Given the description of an element on the screen output the (x, y) to click on. 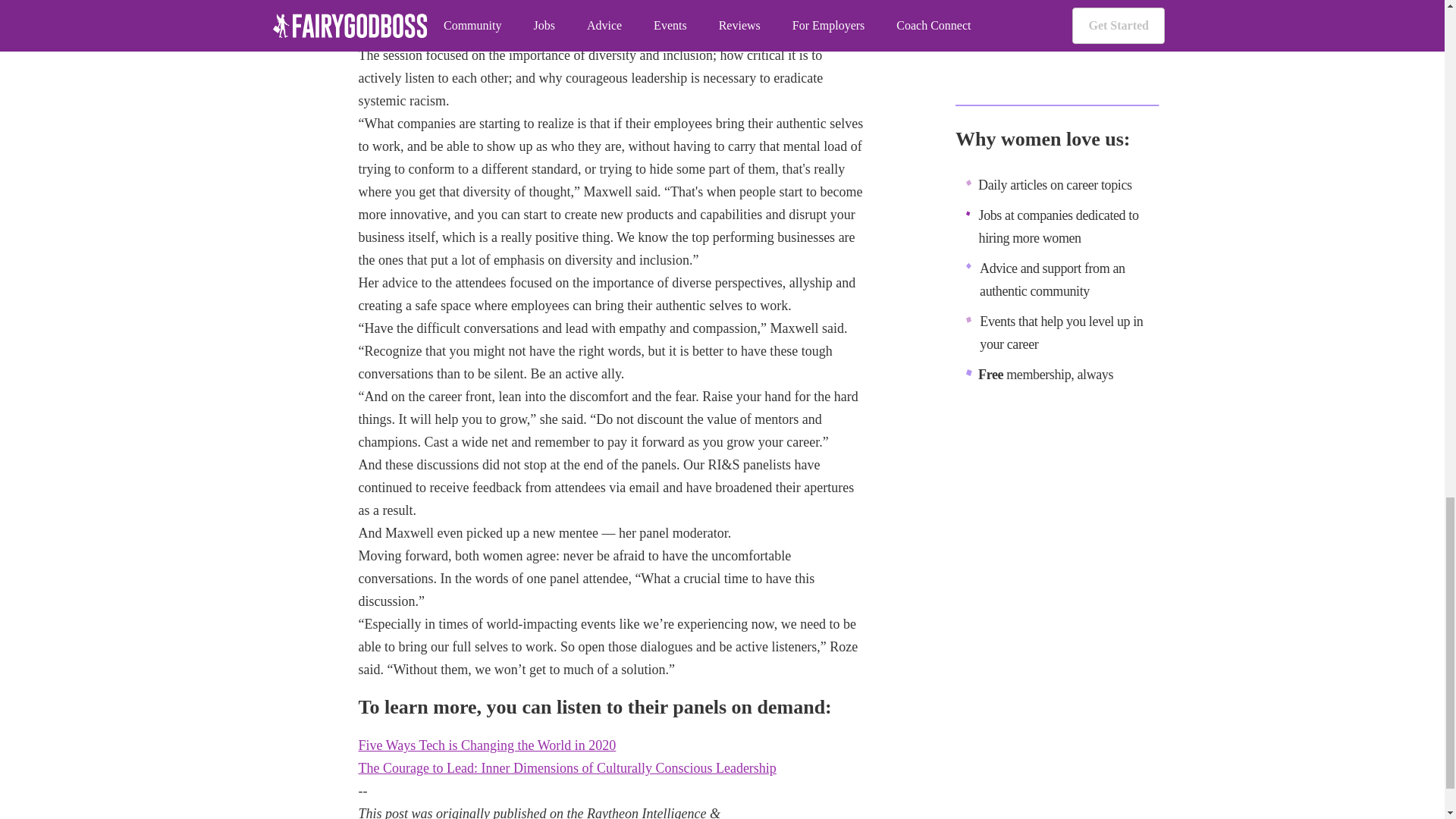
Five Ways Tech is Changing the World in 2020 (486, 744)
